Given the description of an element on the screen output the (x, y) to click on. 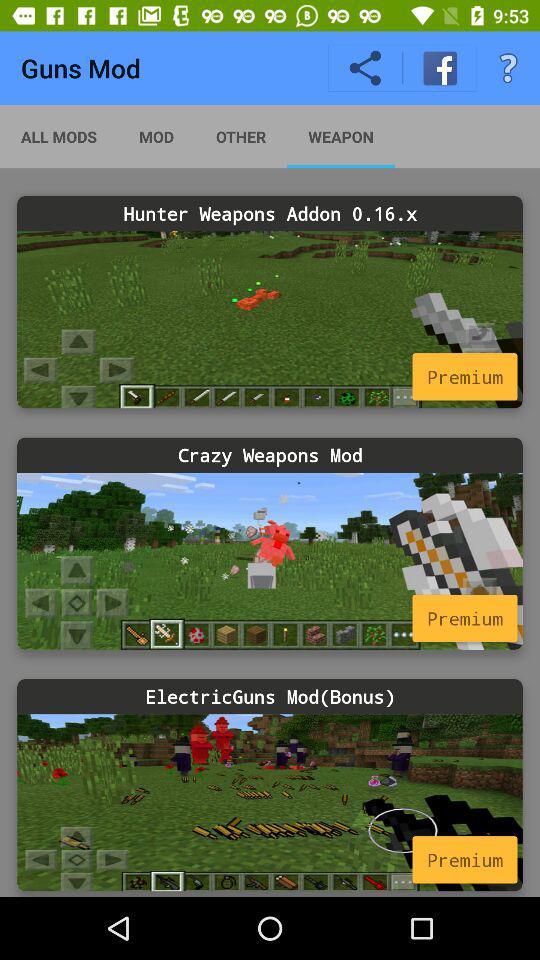
click the icon next to other item (340, 136)
